Given the description of an element on the screen output the (x, y) to click on. 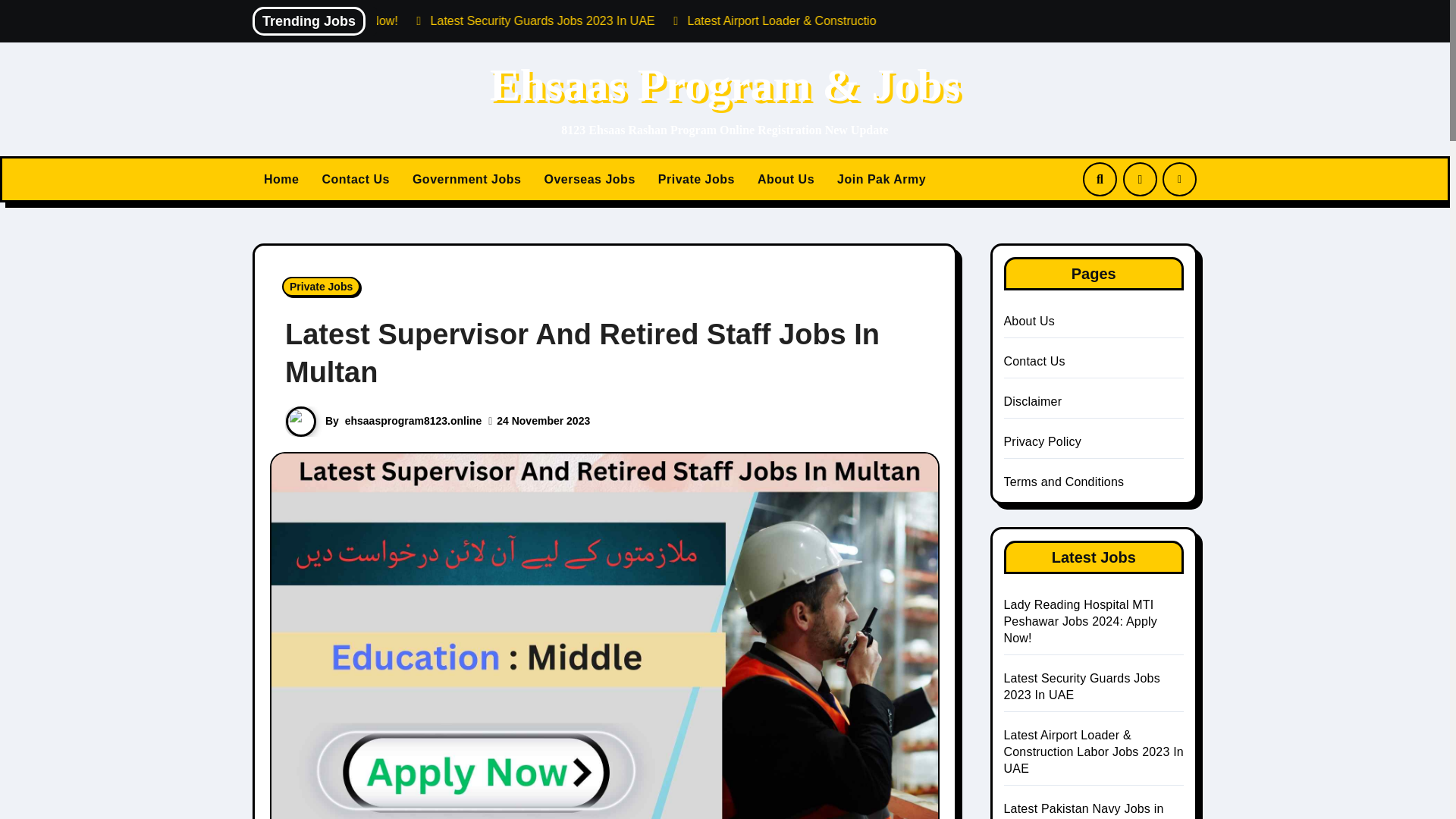
Contact Us (355, 179)
About Us (785, 179)
Government Jobs (466, 179)
Join Pak Army (881, 179)
Lady Reading Hospital MTI Peshawar Jobs 2024: Apply Now! (430, 20)
Private Jobs (695, 179)
Government Jobs (466, 179)
Overseas Jobs (589, 179)
About Us (785, 179)
Latest Security Guards Jobs 2023 In UAE (738, 20)
ehsaasprogram8123.online (413, 420)
Private Jobs (320, 286)
Home (280, 179)
Overseas Jobs (589, 179)
Contact Us (355, 179)
